Given the description of an element on the screen output the (x, y) to click on. 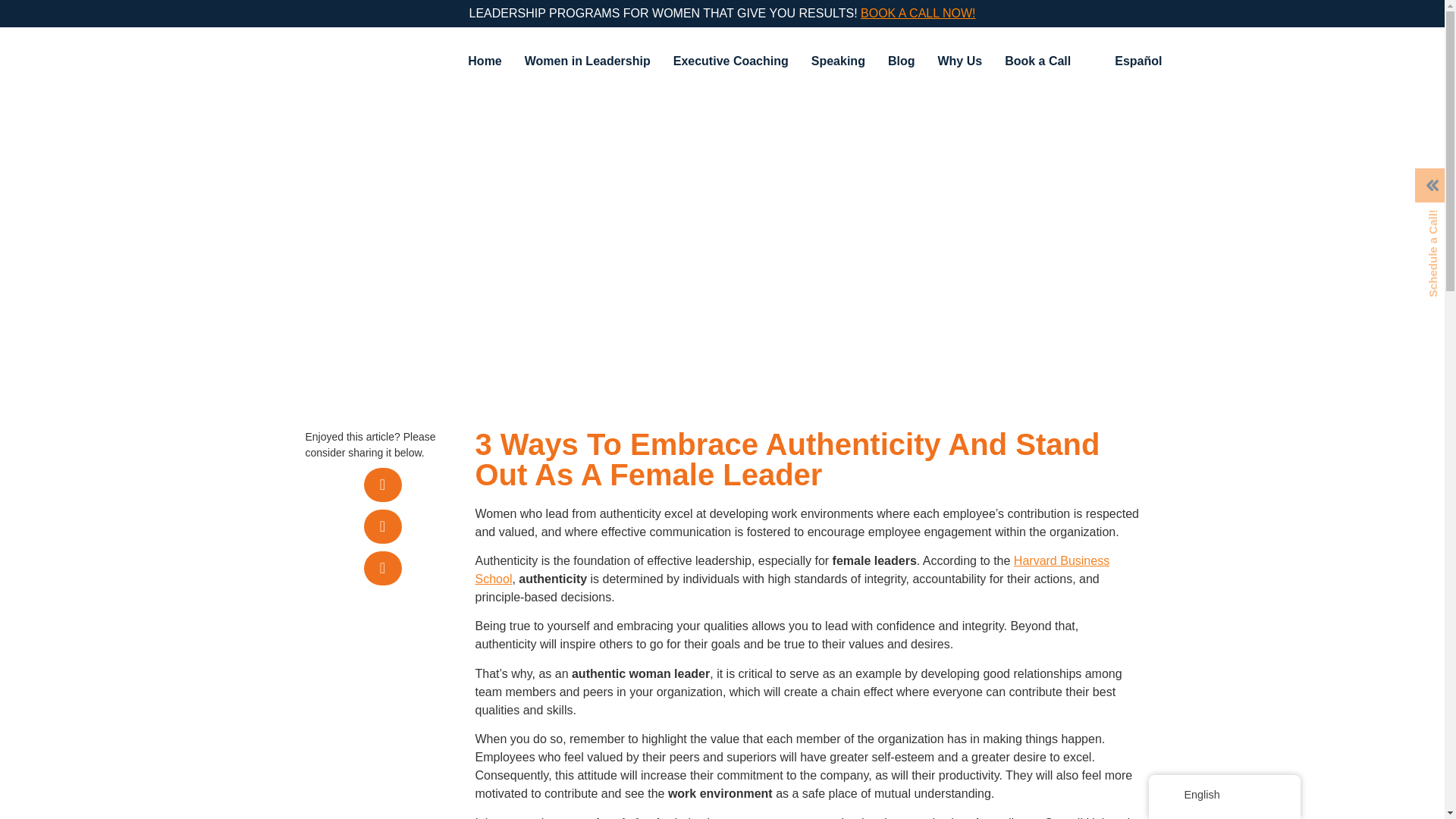
Women in Leadership (587, 61)
Why Us (959, 61)
Speaking (837, 61)
Blog (901, 61)
English (1172, 795)
Book a Call (1036, 61)
Home (484, 60)
Why Us (959, 60)
Women in Leadership (587, 60)
